Given the description of an element on the screen output the (x, y) to click on. 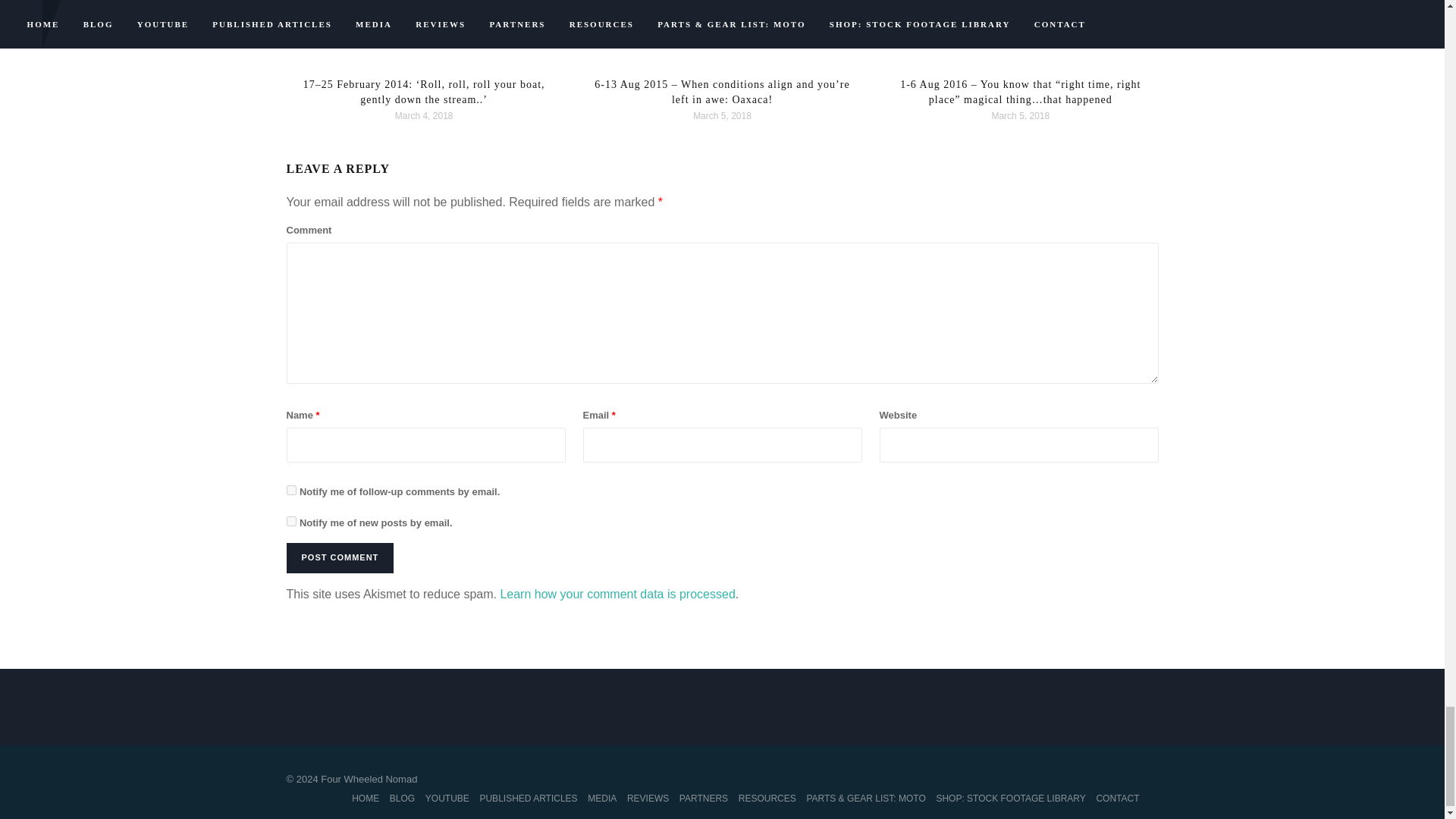
subscribe (291, 490)
subscribe (291, 521)
Post Comment (340, 557)
